Given the description of an element on the screen output the (x, y) to click on. 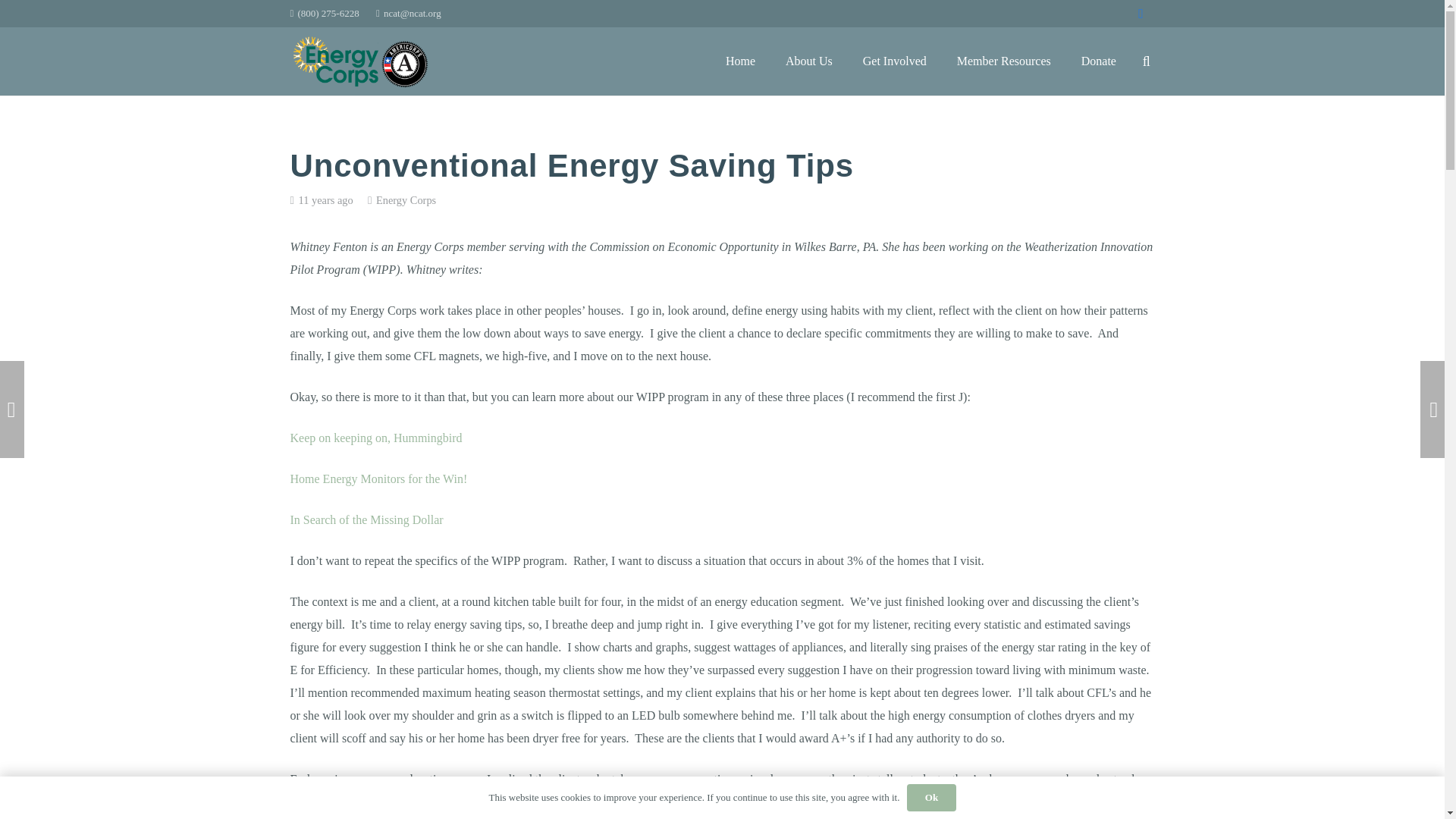
Home Energy Monitors for the Win! (378, 478)
Donate (1098, 61)
Member Resources (1003, 61)
In Search of the Missing Dollar (365, 519)
Energy Corps (405, 200)
Member Resources (1003, 61)
Keep on keeping on, Hummingbird (375, 437)
About Us (808, 61)
Get Involved (894, 61)
Facebook (1140, 13)
